Given the description of an element on the screen output the (x, y) to click on. 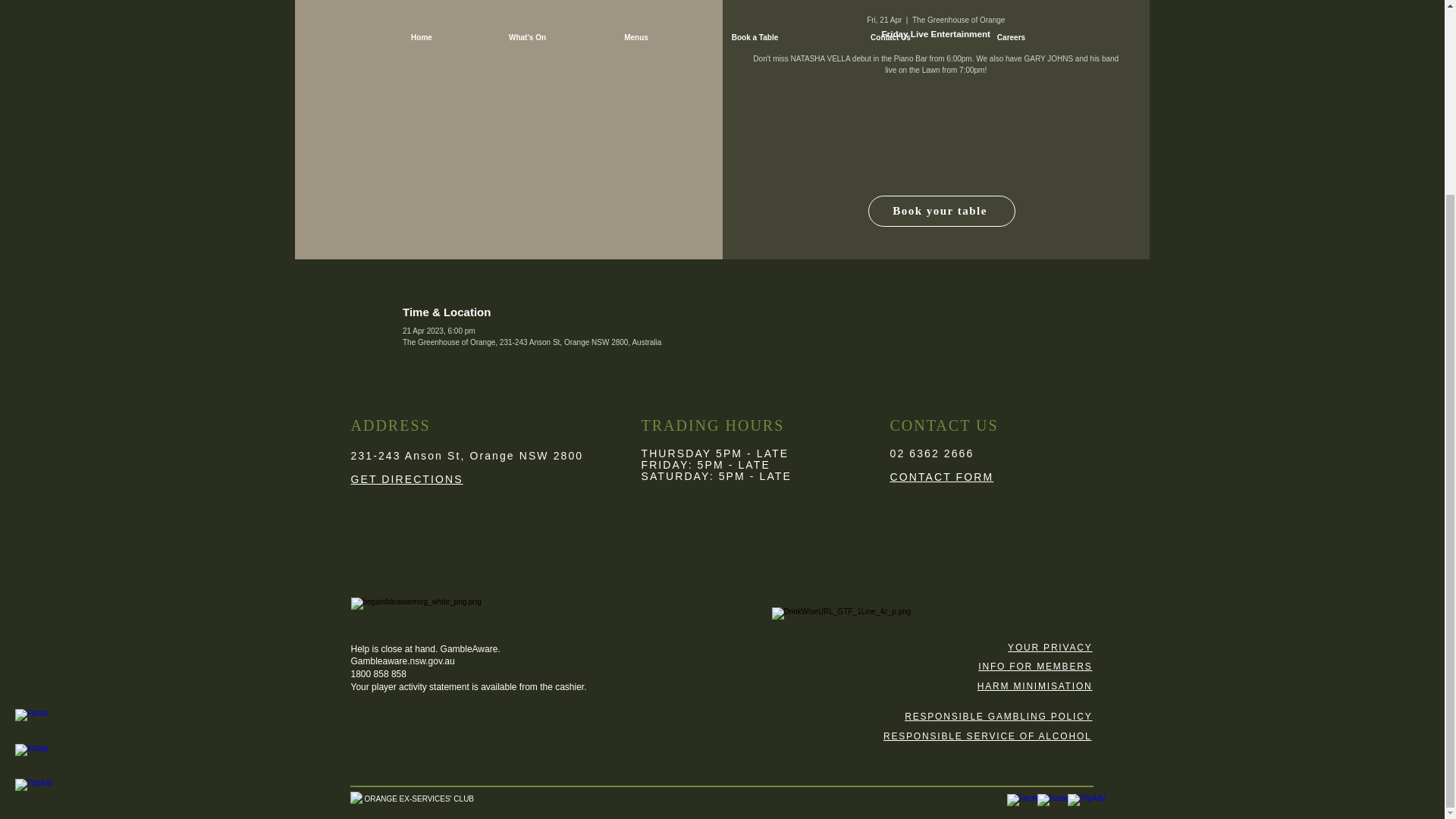
RESPONSIBLE GAMBLING POLICY (998, 716)
Book your table (940, 210)
YOUR PRIVACY (1049, 646)
